Given the description of an element on the screen output the (x, y) to click on. 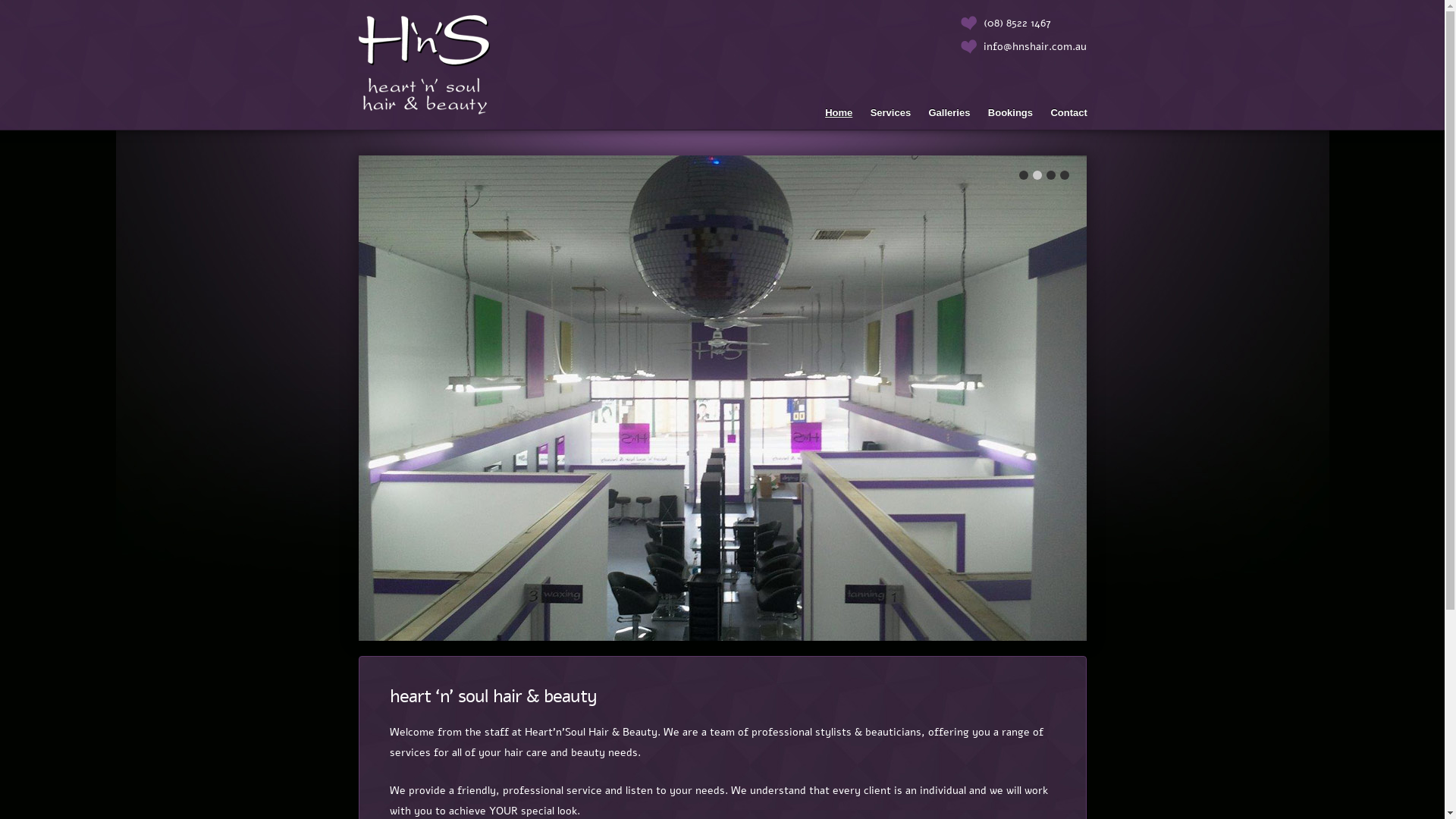
info@hnshair.com.au Element type: text (1033, 46)
Contact Element type: text (1068, 112)
Bookings Element type: text (1010, 112)
Services Element type: text (890, 112)
Galleries Element type: text (949, 112)
Home Element type: text (838, 112)
